Given the description of an element on the screen output the (x, y) to click on. 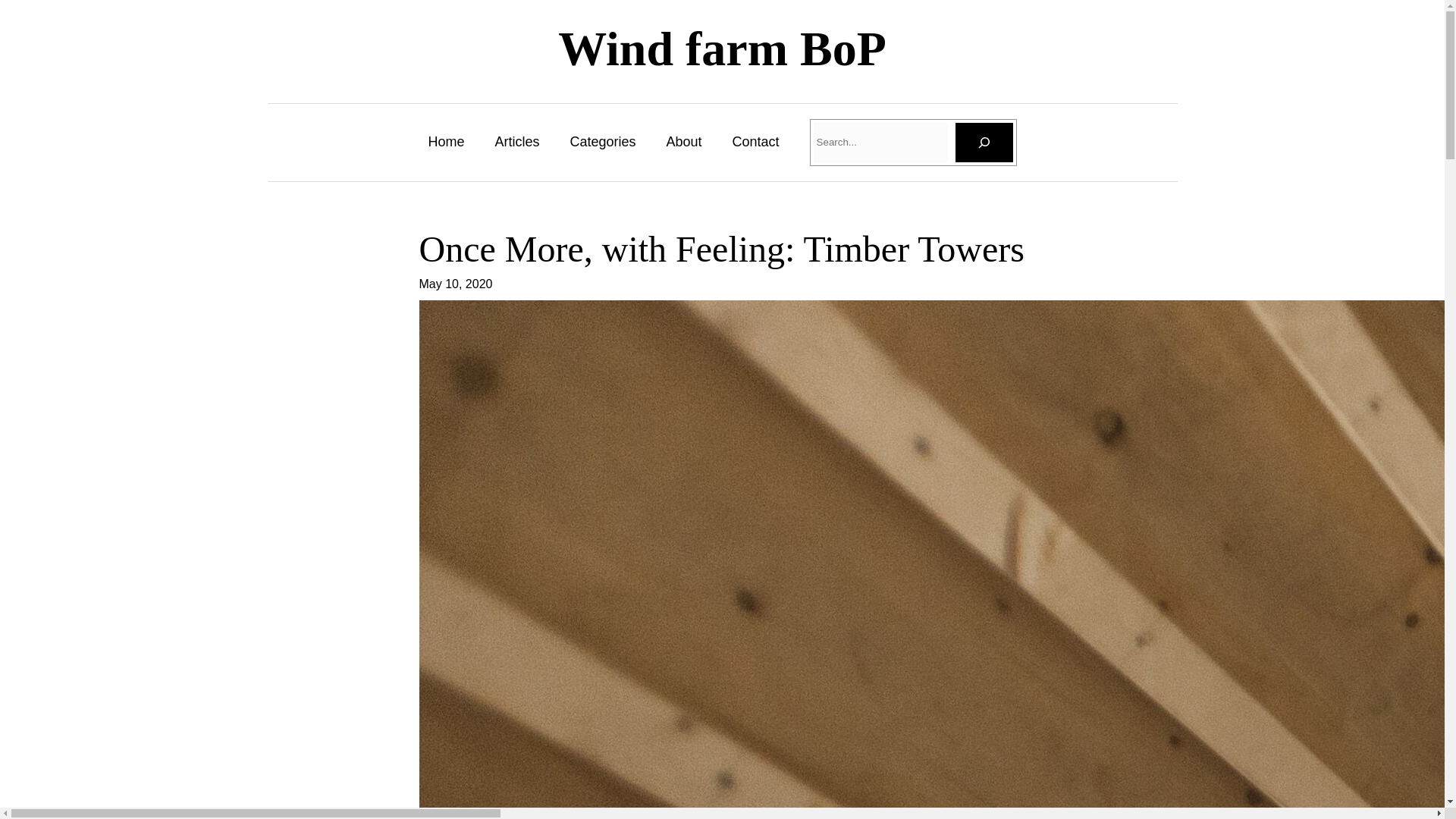
Categories (601, 142)
Articles (516, 142)
Contact (755, 142)
Home (446, 142)
Wind farm BoP (721, 49)
About (683, 142)
